Given the description of an element on the screen output the (x, y) to click on. 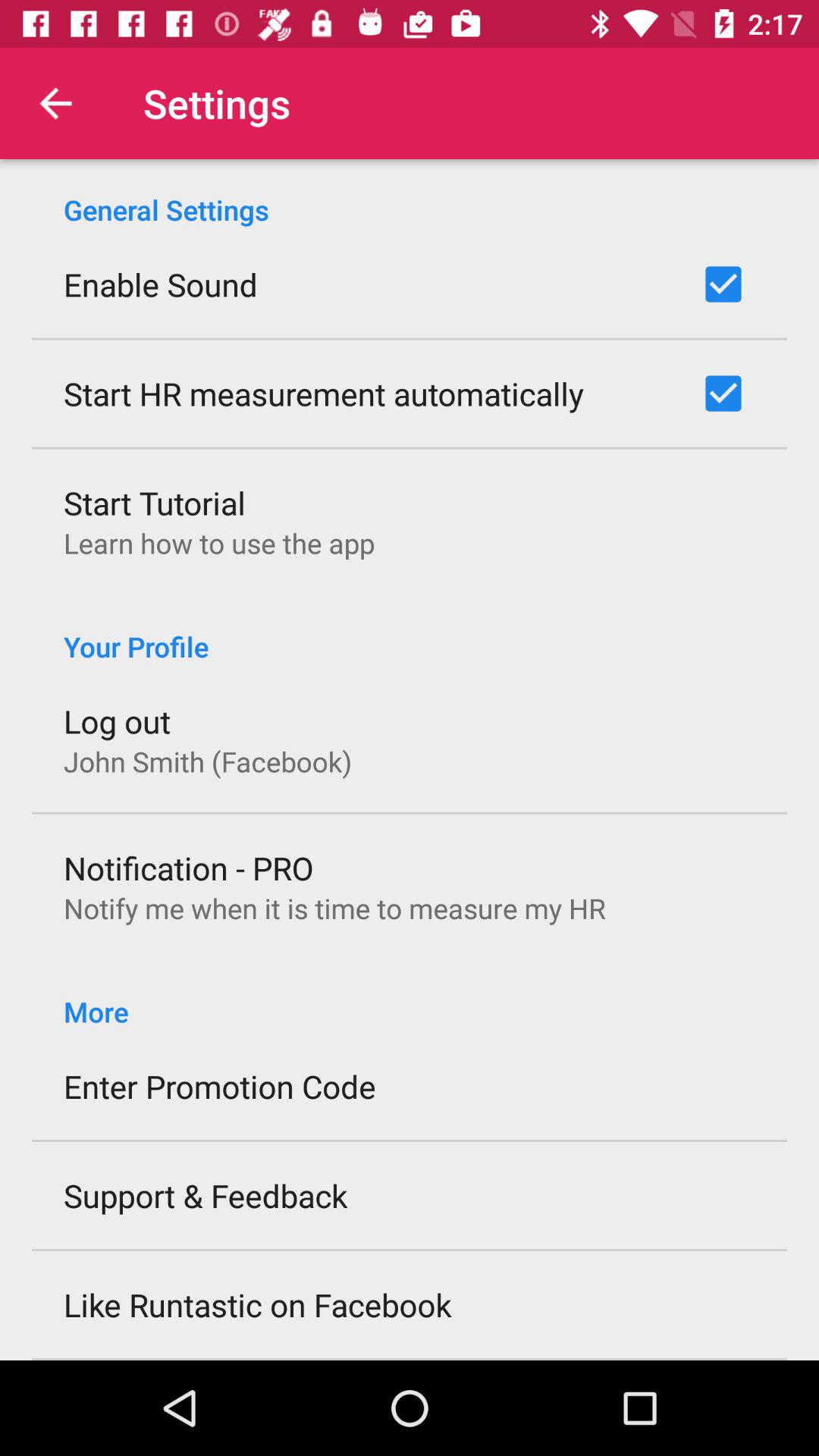
press the icon next to the settings icon (55, 103)
